Given the description of an element on the screen output the (x, y) to click on. 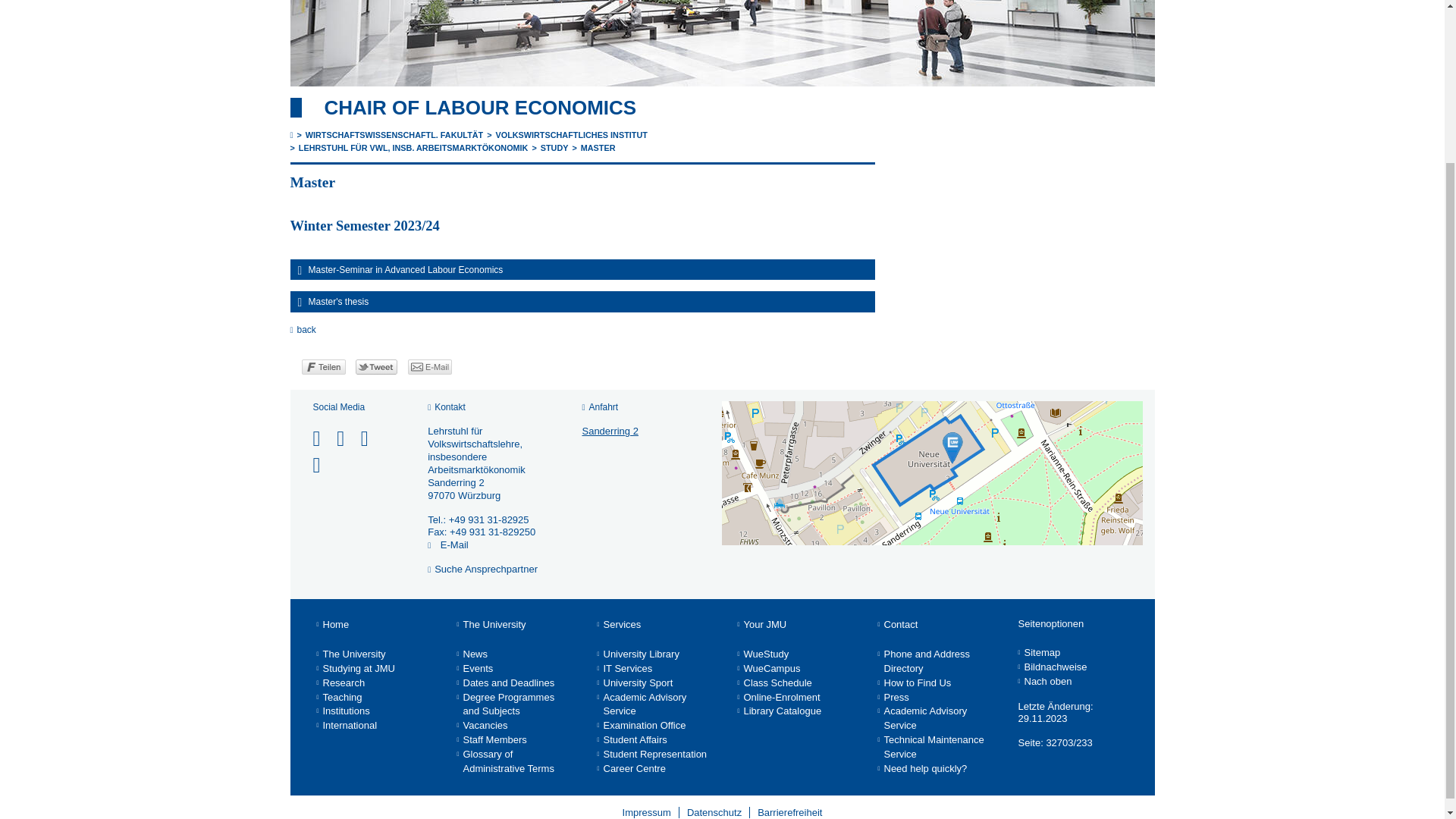
CHAIR OF LABOUR ECONOMICS (480, 107)
